Given the description of an element on the screen output the (x, y) to click on. 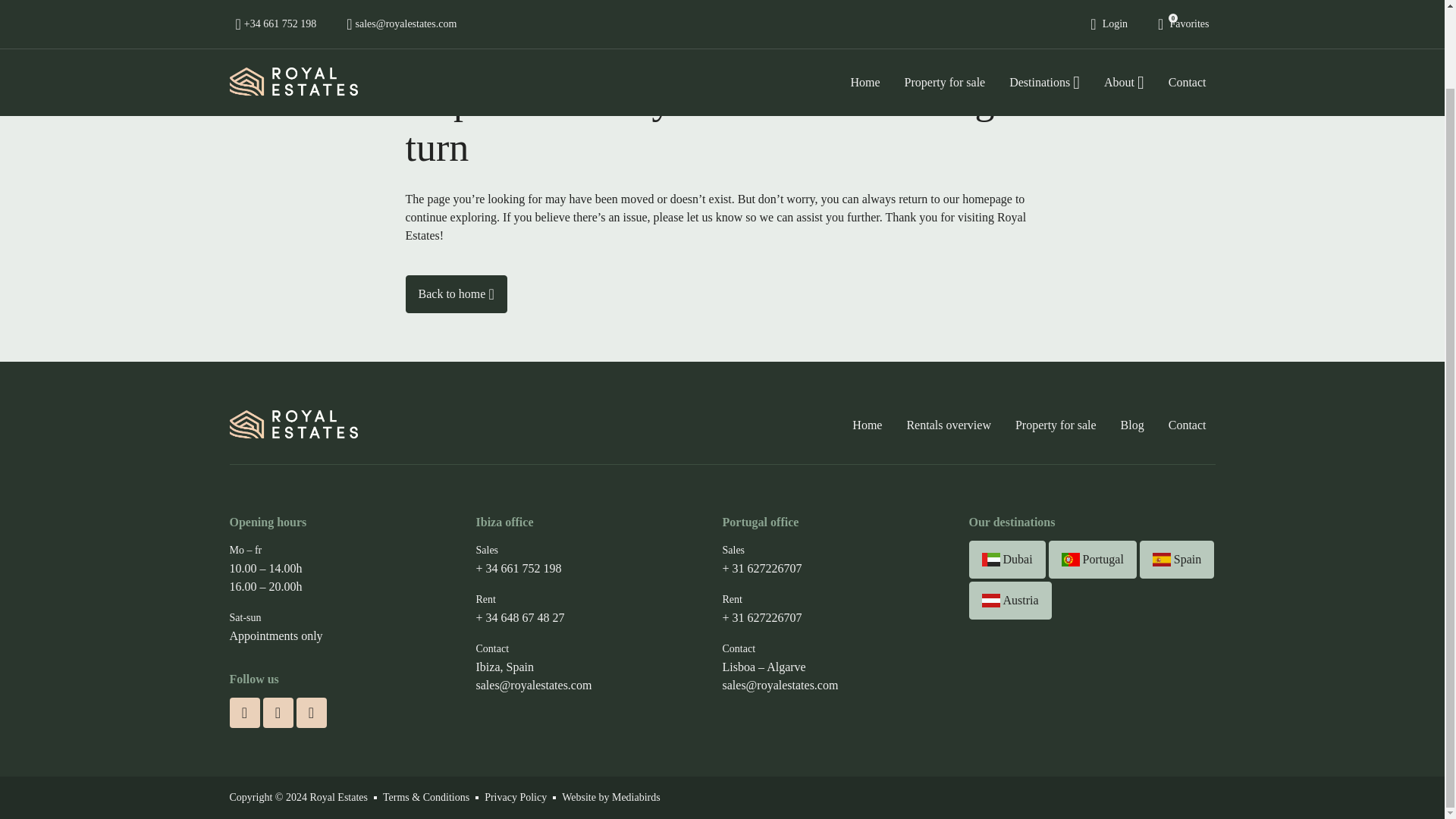
Back to home (455, 293)
Property for sale (1055, 424)
Contact (1186, 4)
Spain (1177, 559)
Portugal (1092, 559)
Home (864, 4)
About (1123, 4)
Rentals overview (948, 424)
Dubai (1007, 559)
Destinations (1044, 4)
